Given the description of an element on the screen output the (x, y) to click on. 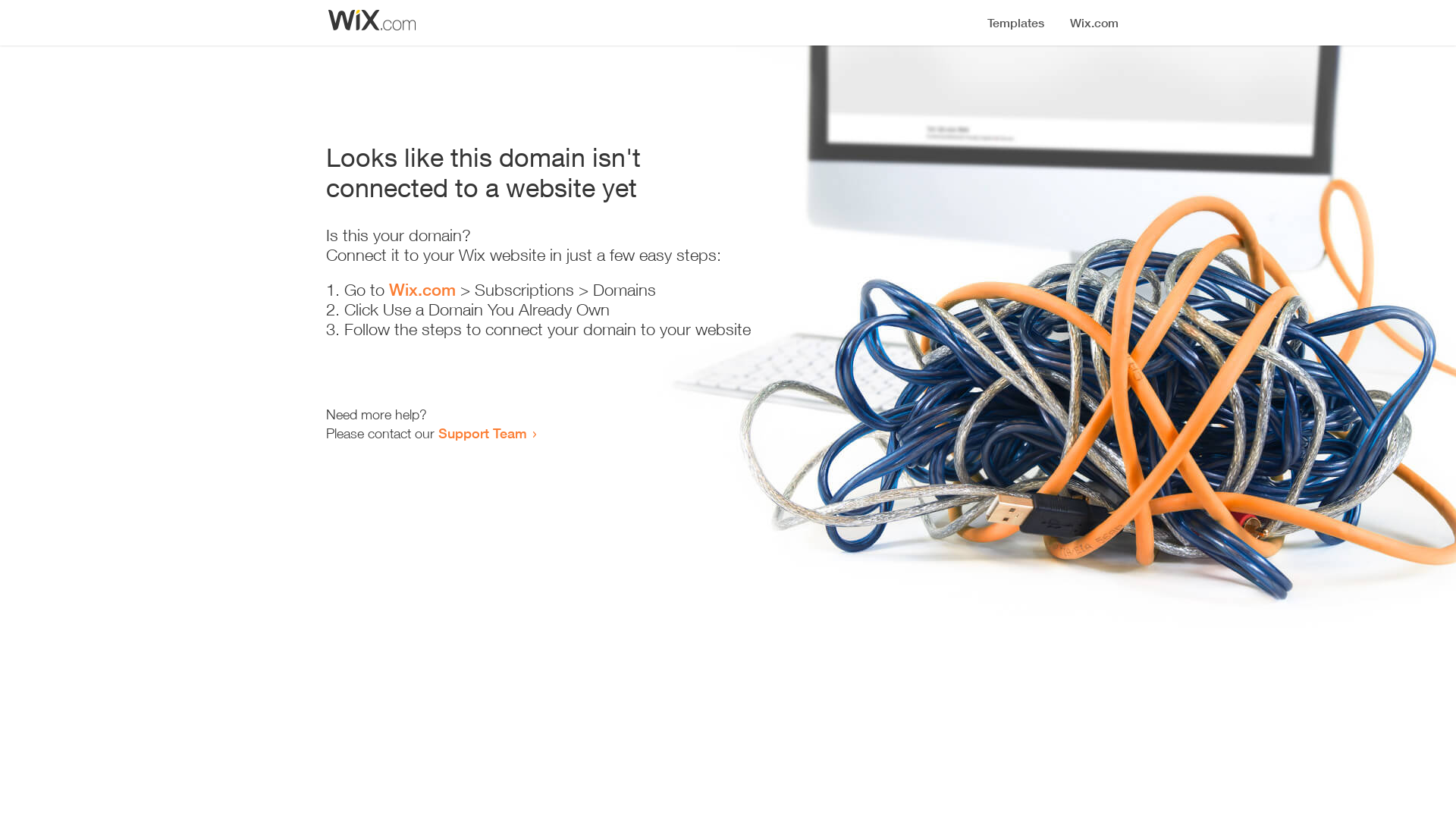
Support Team Element type: text (482, 432)
Wix.com Element type: text (422, 289)
